Given the description of an element on the screen output the (x, y) to click on. 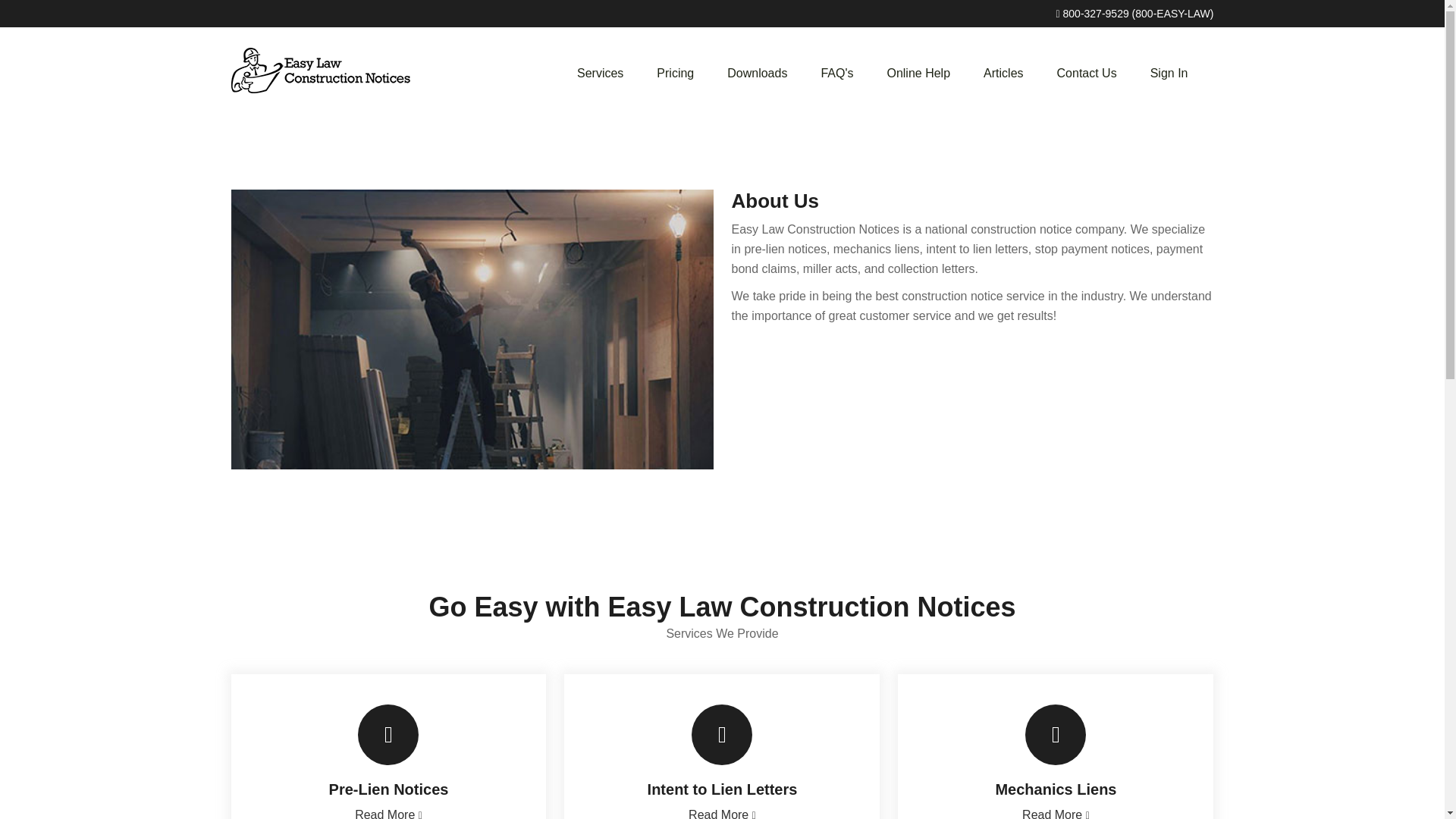
Pricing (675, 73)
Articles (1003, 73)
FAQ's (836, 73)
Downloads (757, 73)
Sign In (1169, 73)
Online Help (917, 73)
Services (600, 73)
Contact Us (1087, 73)
